Given the description of an element on the screen output the (x, y) to click on. 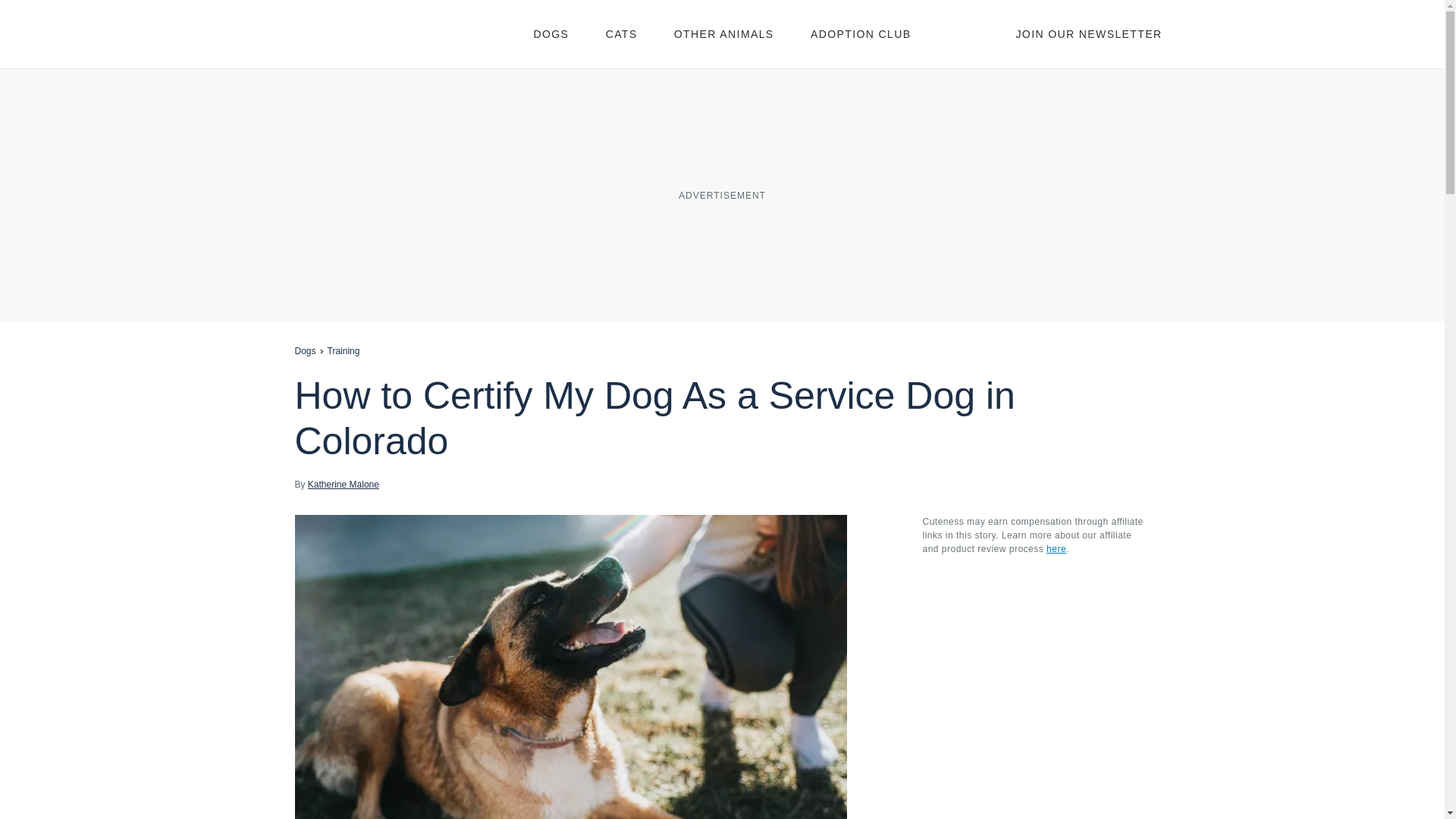
ADOPTION CLUB (860, 33)
Learn more about our affiliate and product review process (1055, 548)
Training (343, 350)
Dogs (304, 350)
JOIN OUR NEWSLETTER (1087, 33)
Katherine Malone (342, 484)
